Given the description of an element on the screen output the (x, y) to click on. 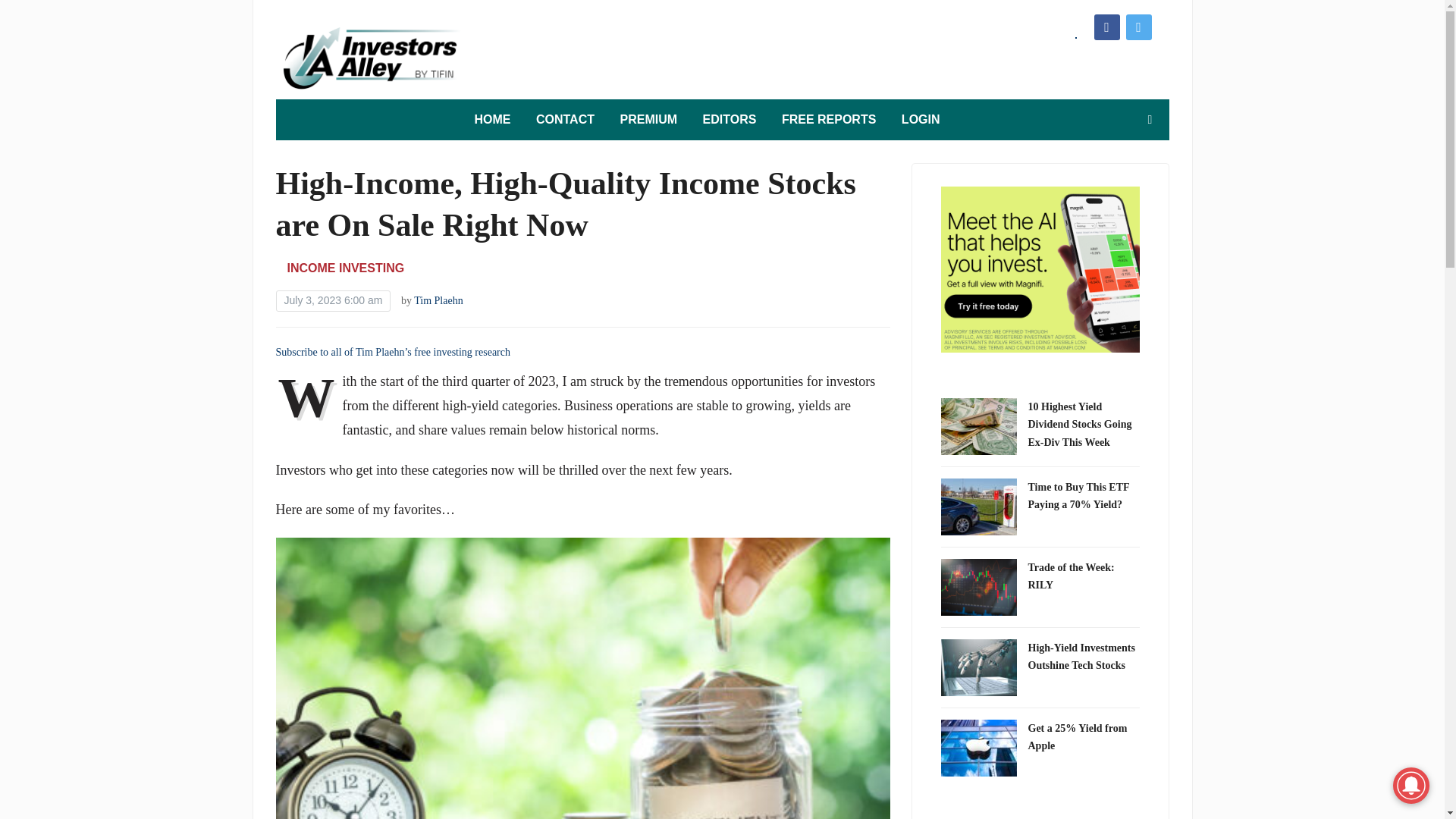
INCOME INVESTING (345, 267)
twitter (1138, 25)
Facebook (1106, 25)
Tim Plaehn (438, 300)
Twitter (1138, 25)
facebook (1106, 25)
PREMIUM (649, 119)
Search (1149, 119)
CONTACT (564, 119)
EDITORS (730, 119)
High-Yield Investments Outshine Tech Stocks (1081, 656)
Trade of the Week: RILY (1071, 576)
HOME (492, 119)
LOGIN (920, 119)
FREE REPORTS (828, 119)
